Given the description of an element on the screen output the (x, y) to click on. 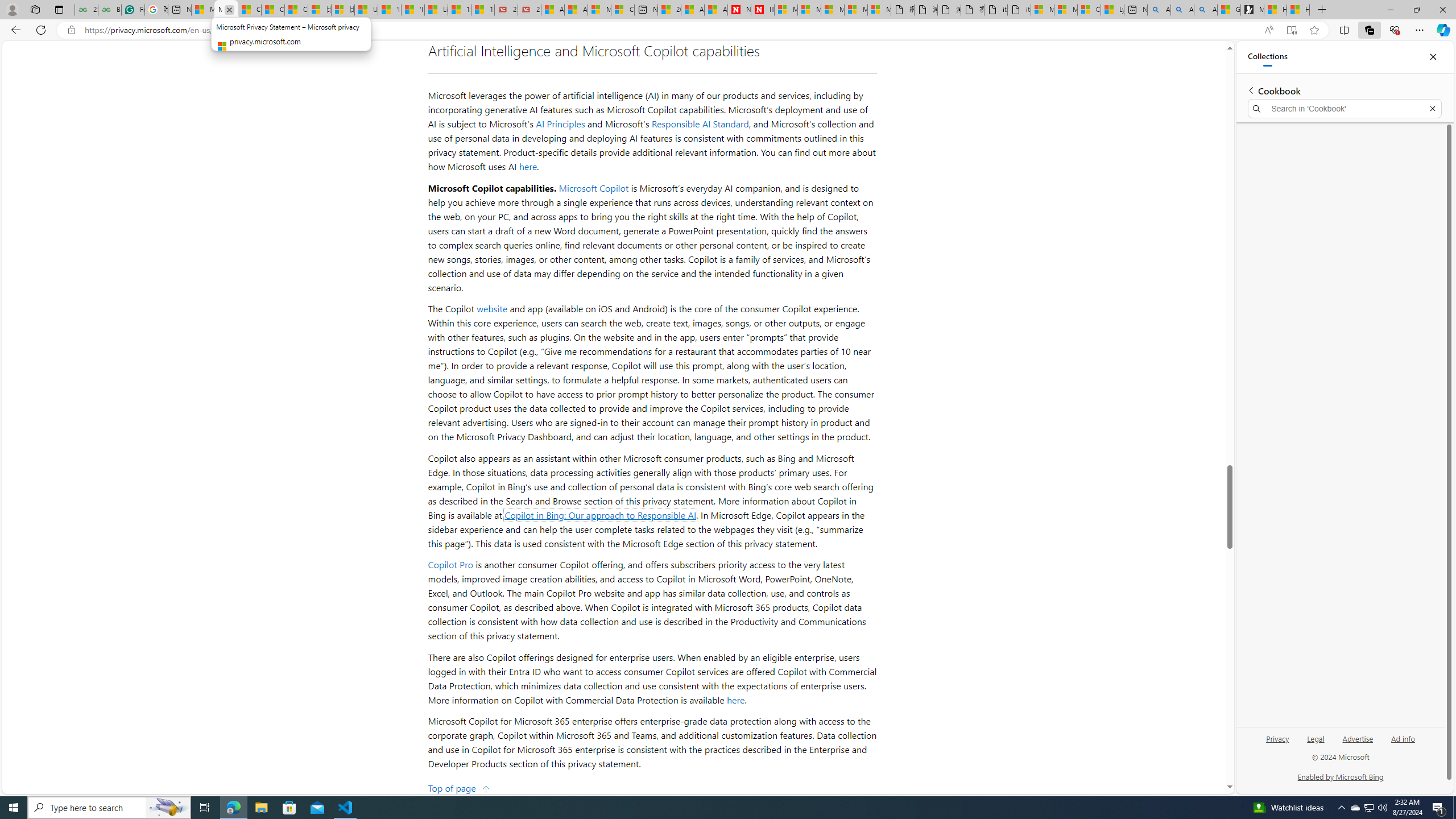
here (735, 699)
Lifestyle - MSN (435, 9)
Alabama high school quarterback dies - Search Videos (1205, 9)
21 Movies That Outdid the Books They Were Based On (529, 9)
15 Ways Modern Life Contradicts the Teachings of Jesus (482, 9)
USA TODAY - MSN (365, 9)
